Given the description of an element on the screen output the (x, y) to click on. 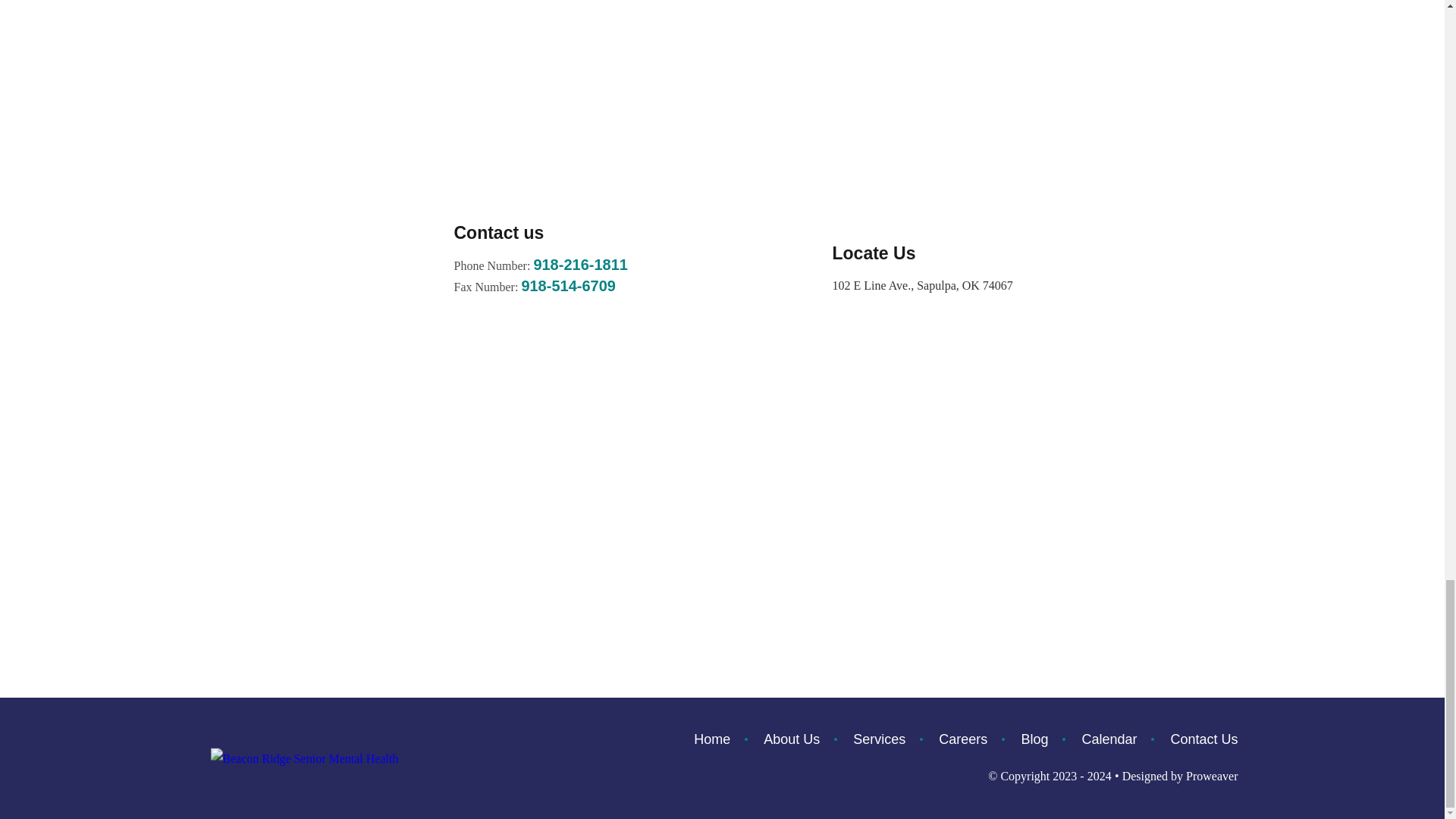
Services (879, 739)
Calendar (1108, 739)
Proweaver (1211, 775)
Blog (1034, 739)
Careers (963, 739)
Home (719, 739)
Contact Us (1195, 739)
About Us (884, 229)
